Given the description of an element on the screen output the (x, y) to click on. 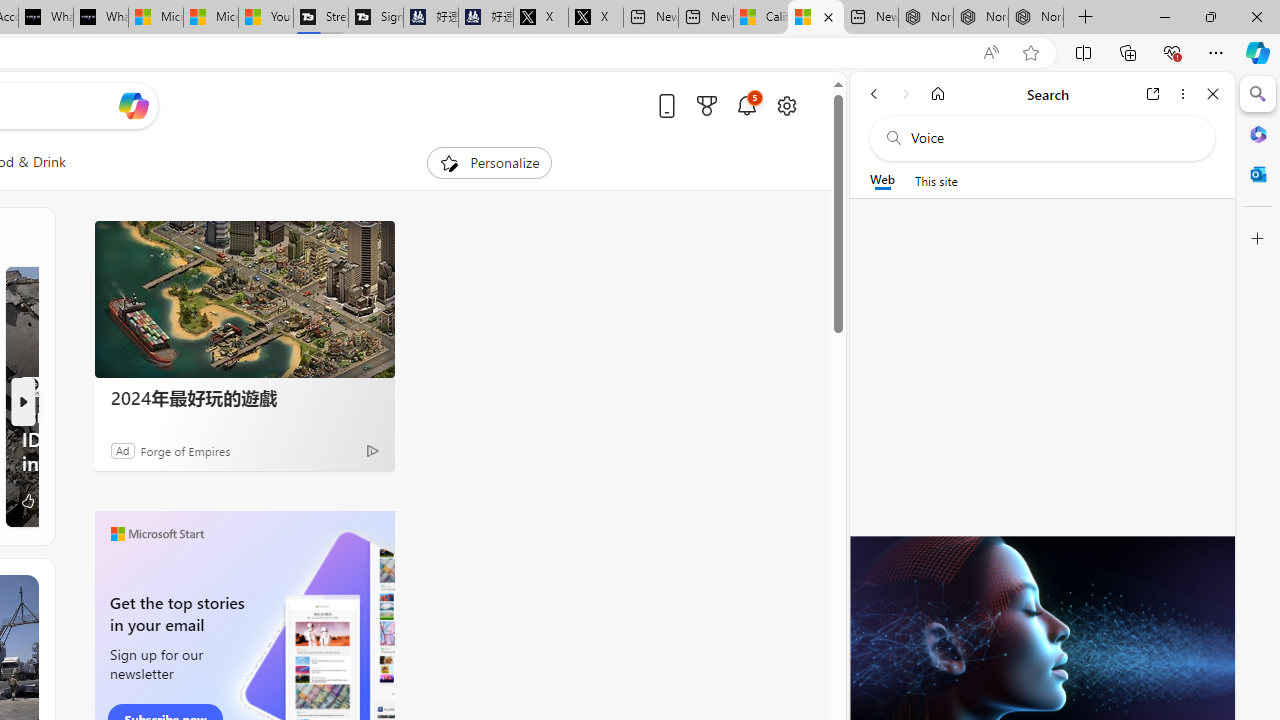
Nordace - Siena Pro 15 Essential Set (1035, 17)
Personalize (488, 162)
Ad Choice (372, 449)
More options (1182, 93)
News - MSN (815, 17)
See more (24, 589)
Microsoft Start Sports (156, 17)
